Given the description of an element on the screen output the (x, y) to click on. 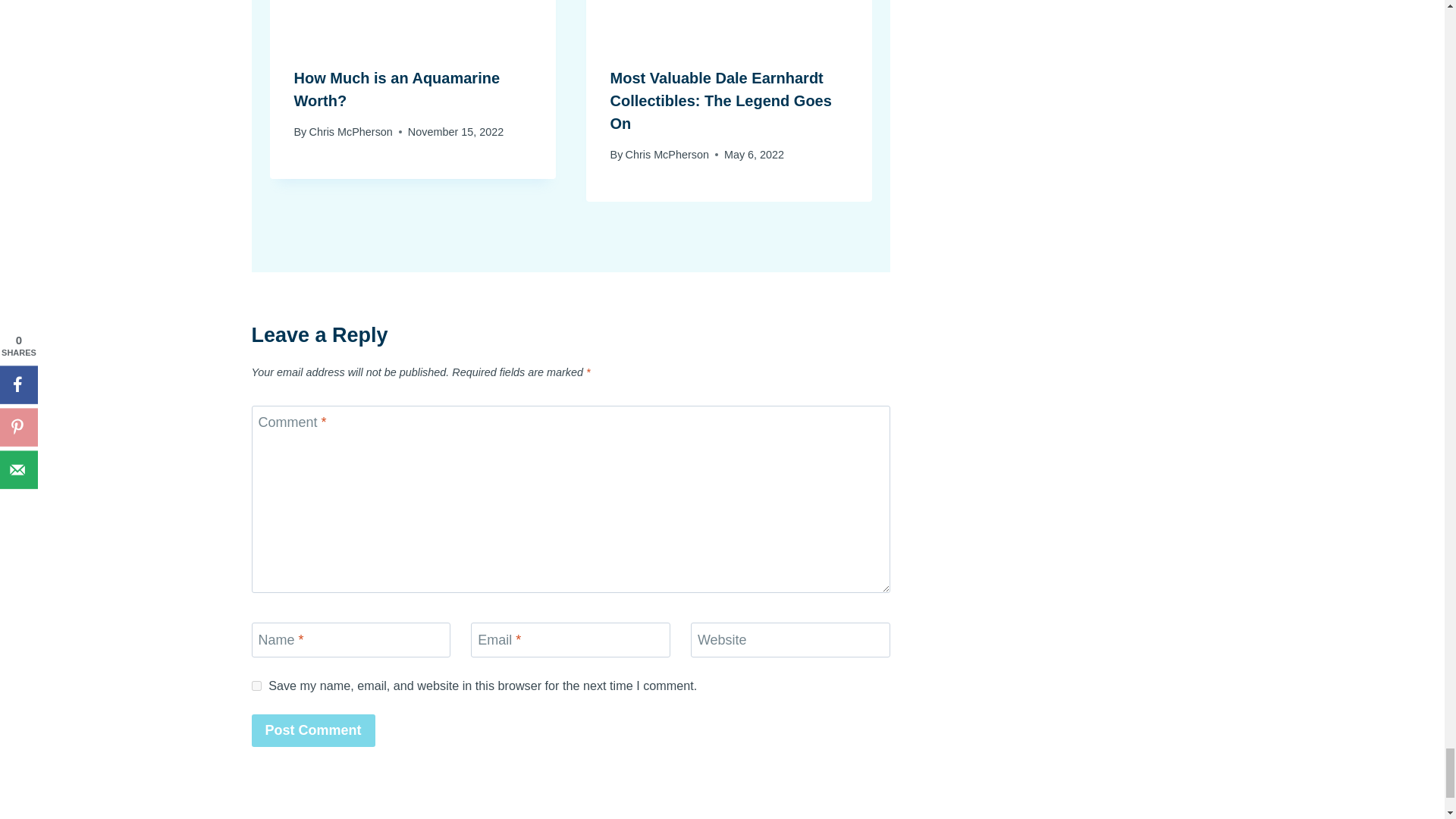
Post Comment (313, 730)
yes (256, 685)
